Given the description of an element on the screen output the (x, y) to click on. 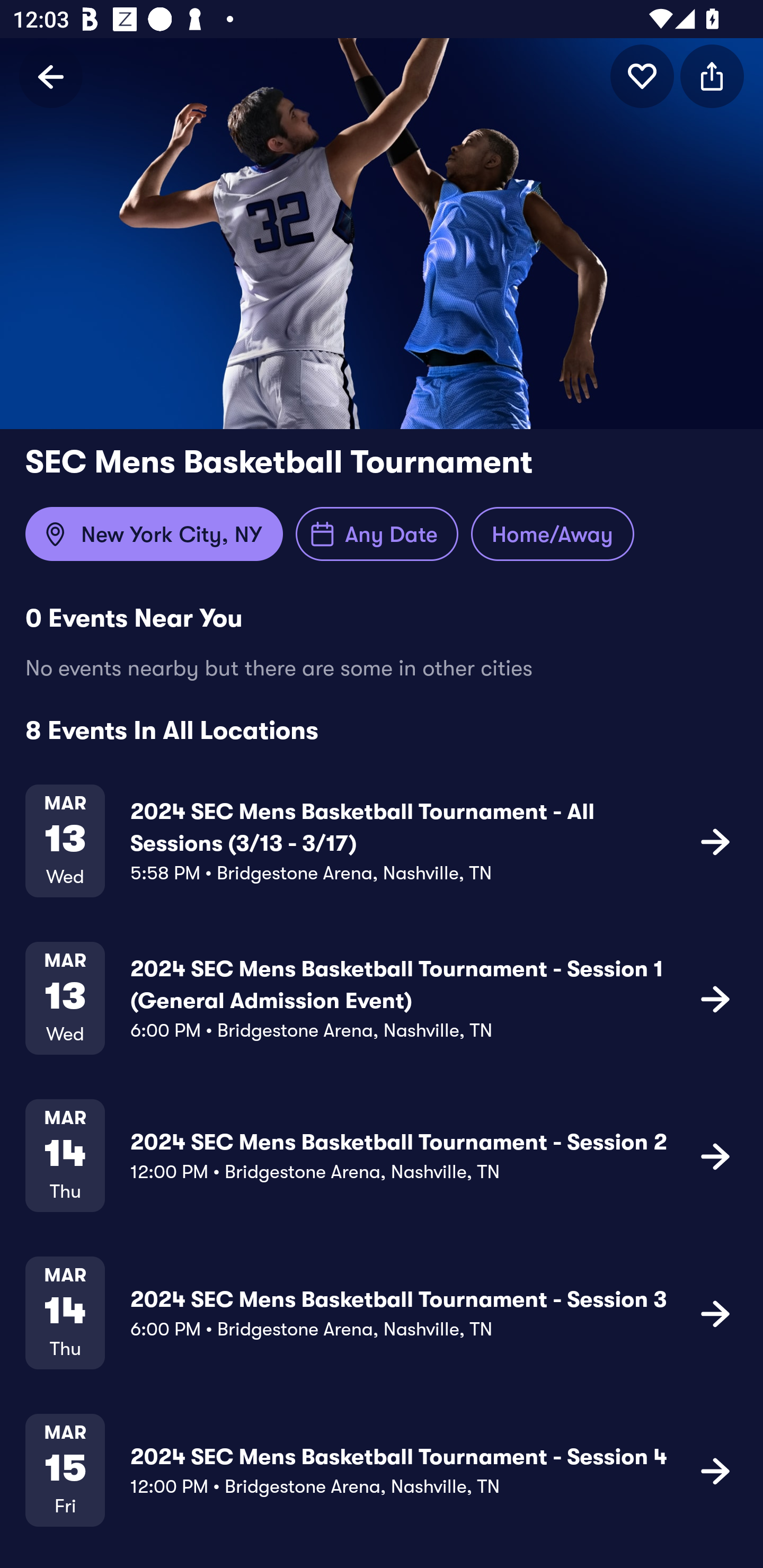
Back (50, 75)
icon button (641, 75)
icon button (711, 75)
New York City, NY (153, 533)
Any Date (377, 533)
Home/Away (552, 533)
icon button (714, 840)
icon button (714, 998)
icon button (714, 1155)
icon button (714, 1312)
icon button (714, 1470)
